Given the description of an element on the screen output the (x, y) to click on. 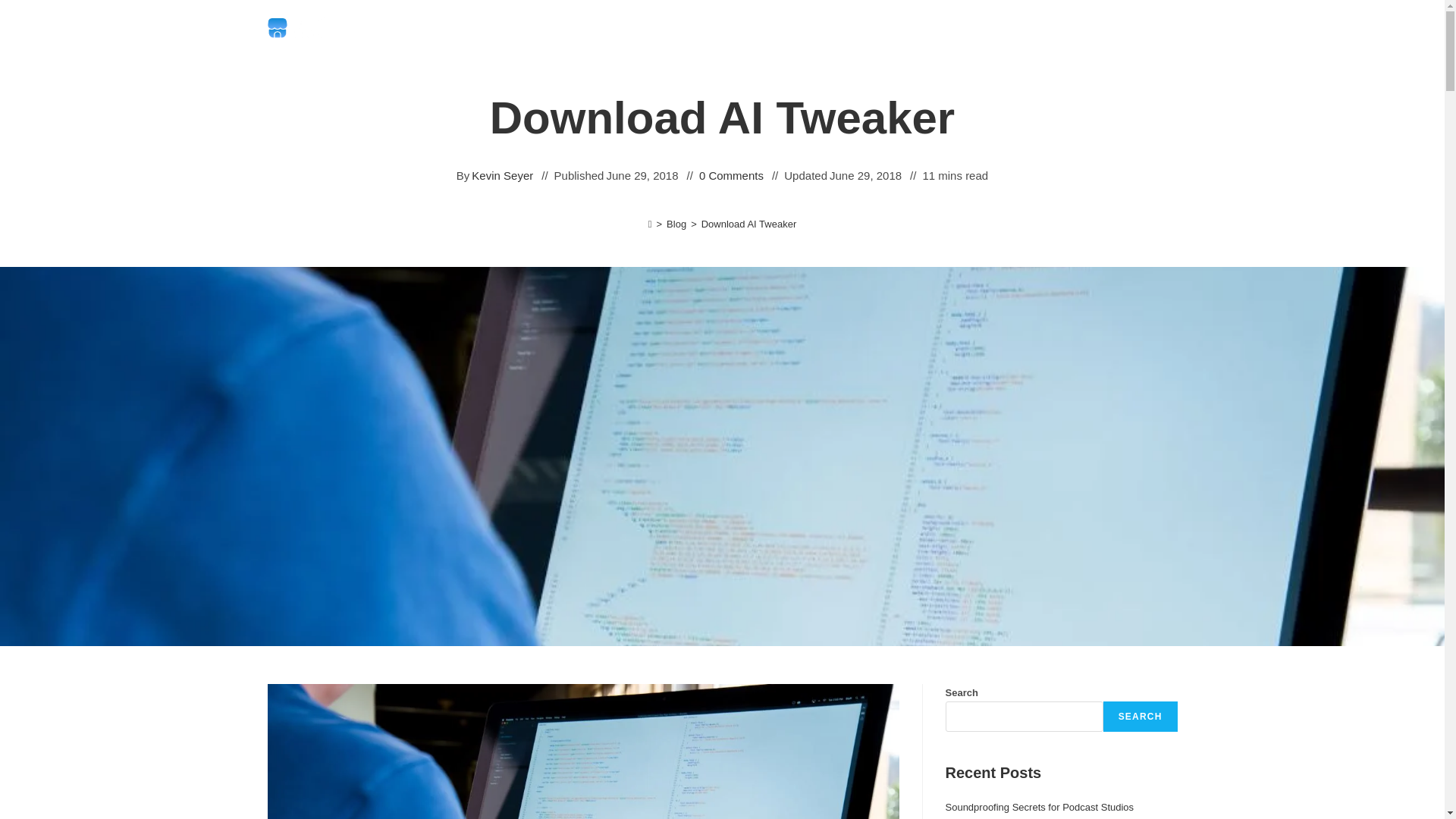
Kevin Seyer (501, 175)
Download AI Tweaker (748, 224)
Blog (675, 224)
0 Comments (730, 175)
